Given the description of an element on the screen output the (x, y) to click on. 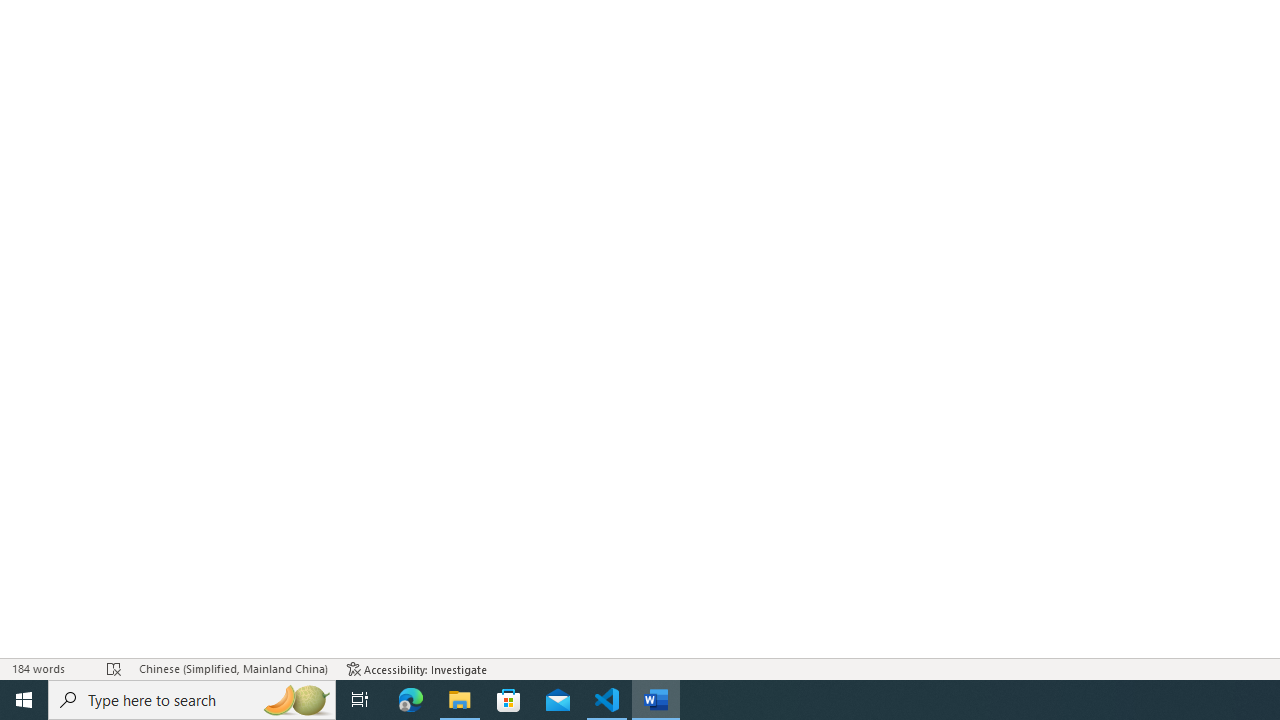
Spelling and Grammar Check Errors (114, 668)
Word Count 184 words (49, 668)
Accessibility Checker Accessibility: Investigate (417, 668)
Language Chinese (Simplified, Mainland China) (232, 668)
